Given the description of an element on the screen output the (x, y) to click on. 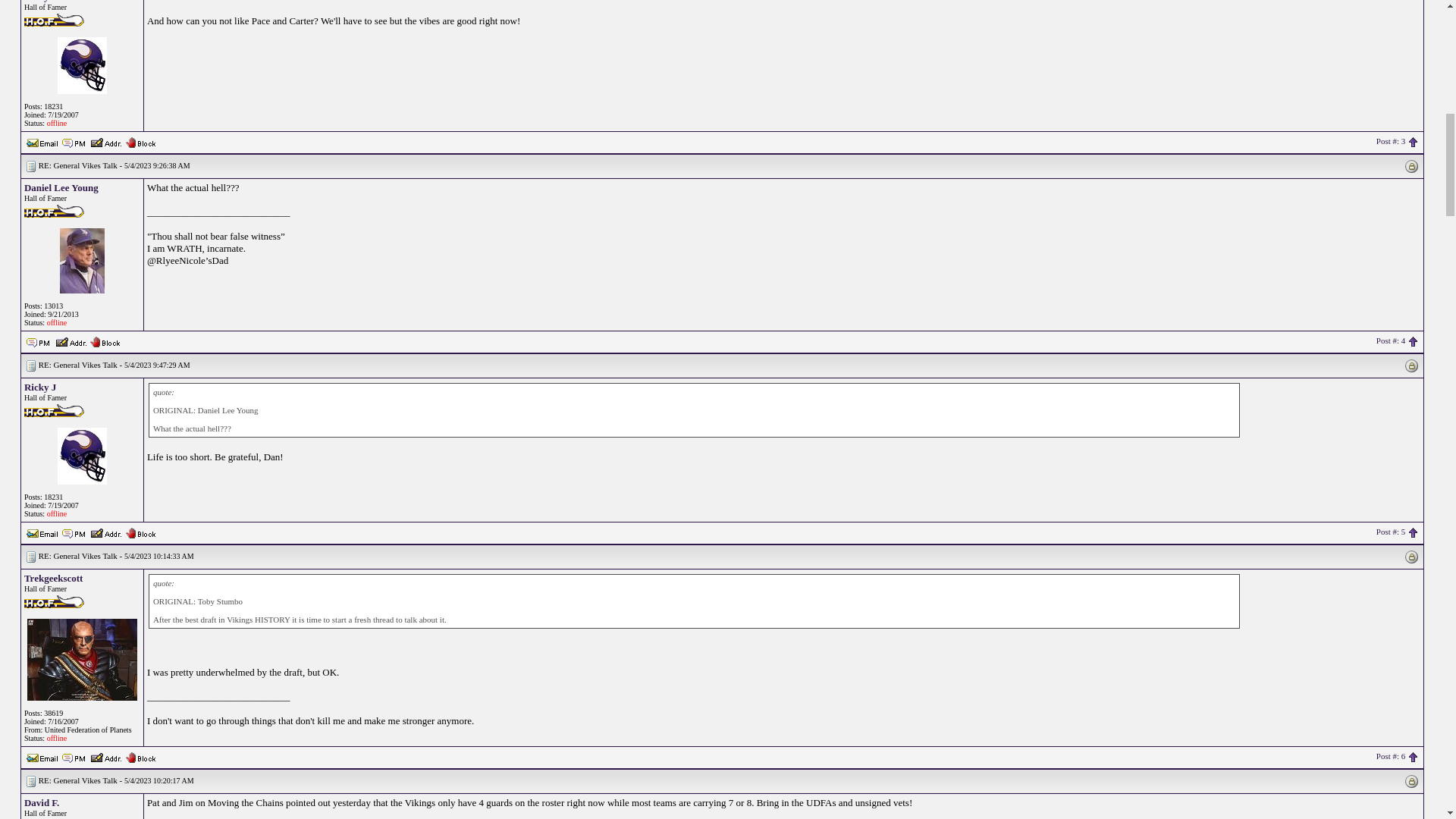
E-mail  Ricky J (42, 140)
Block this guy and hide his messages (140, 140)
Block this guy and hide his messages (104, 339)
Send Private Message (74, 142)
Send Private Message (74, 532)
Add Member To Contact List (70, 339)
Send Private Message (38, 341)
E-mail  Ricky J (42, 531)
Block this guy and hide his messages (140, 531)
Add Member To Contact List (105, 140)
Add Member To Contact List (105, 531)
